Given the description of an element on the screen output the (x, y) to click on. 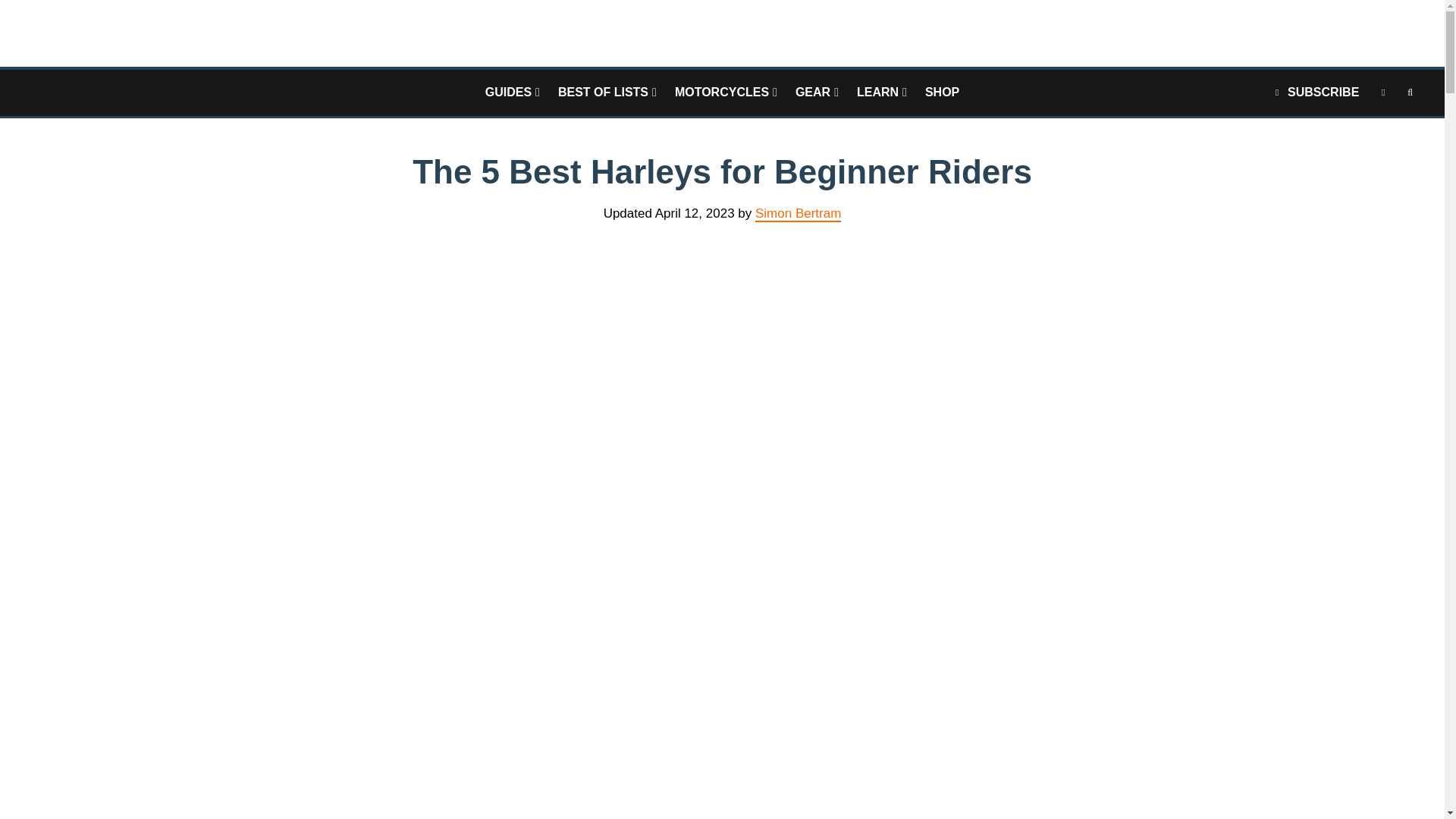
MOTORCYCLES (725, 92)
BEST OF LISTS (606, 92)
GUIDES (512, 92)
LEARN (881, 92)
GEAR (816, 92)
